Given the description of an element on the screen output the (x, y) to click on. 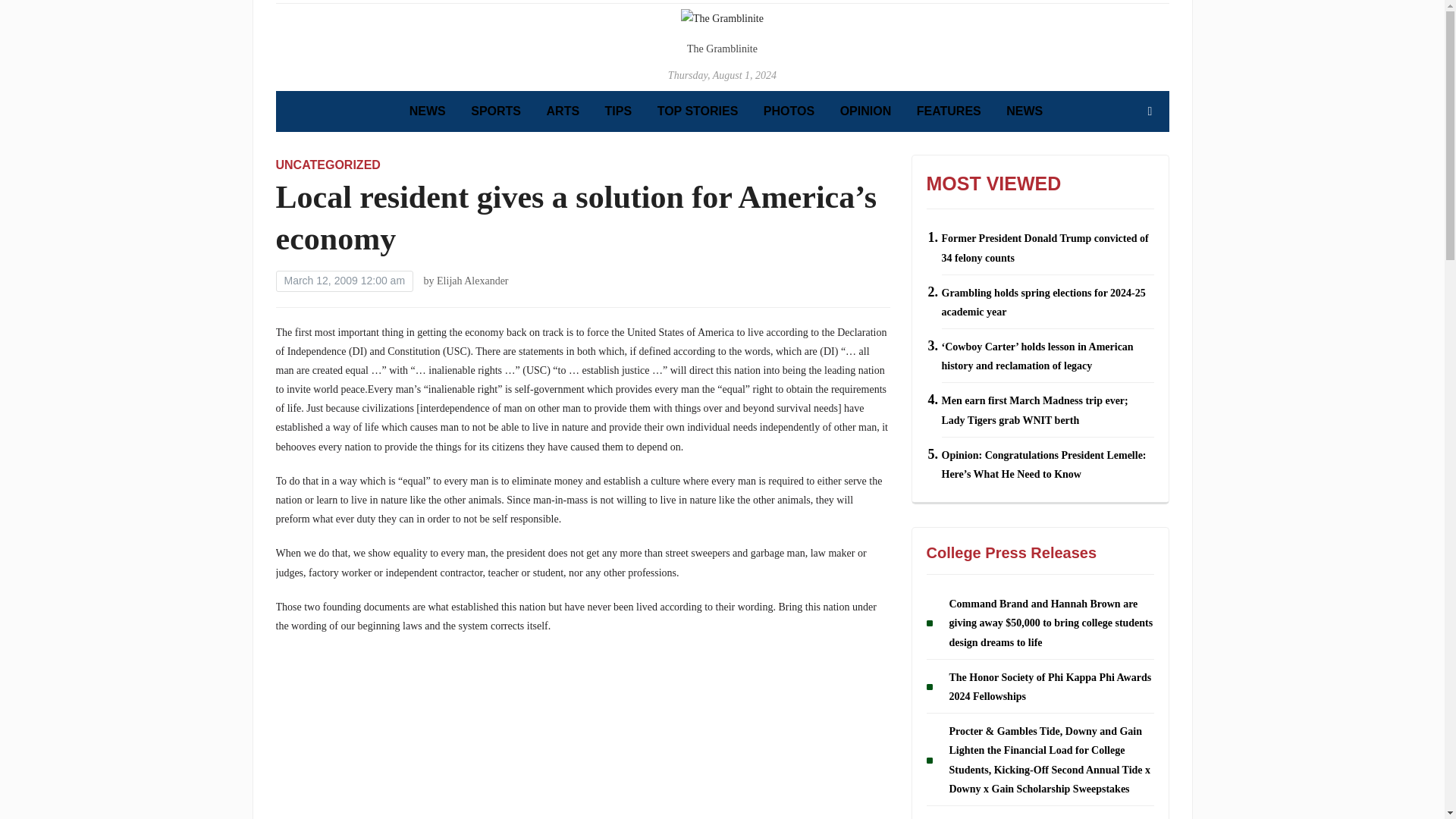
NEWS (427, 262)
TIPS (618, 262)
Search (1149, 262)
UNCATEGORIZED (328, 315)
FEATURES (949, 262)
PHOTOS (787, 262)
Grambling holds spring elections for 2024-25 academic year (1043, 453)
OPINION (865, 262)
NEWS (1024, 262)
ARTS (563, 262)
TOP STORIES (698, 262)
Former President Donald Trump convicted of 34 felony counts (1045, 399)
